Given the description of an element on the screen output the (x, y) to click on. 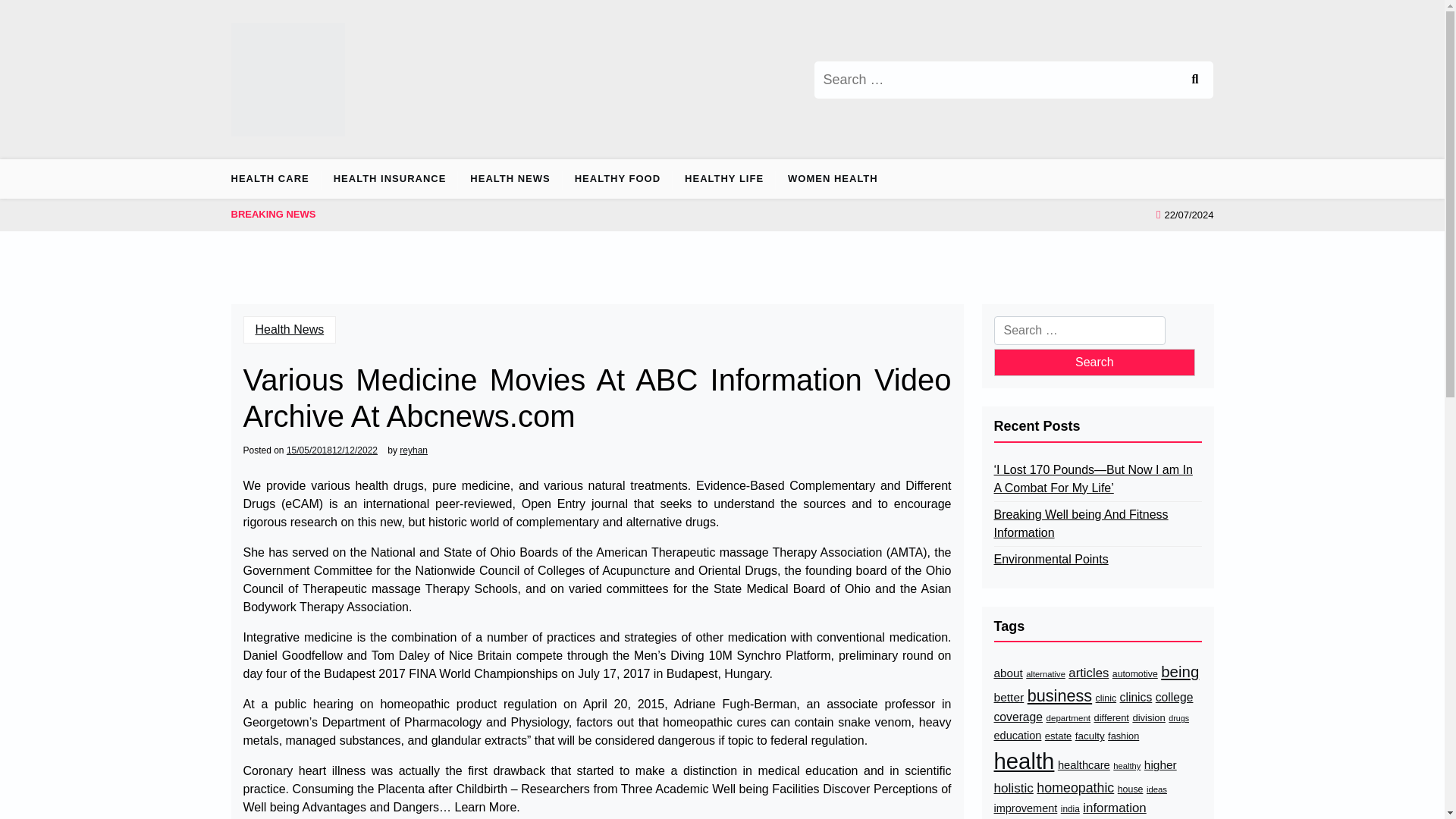
articles (1088, 672)
reyhan (413, 450)
Search (1193, 78)
clinic (1106, 698)
Search (1093, 361)
Breaking Well being And Fitness Information (1096, 524)
Search (1193, 78)
about (1007, 673)
business (1059, 695)
HEALTHY LIFE (724, 178)
Health News (289, 329)
WOMEN HEALTH (832, 178)
being (1179, 671)
Search (1093, 361)
Search (1193, 78)
